Given the description of an element on the screen output the (x, y) to click on. 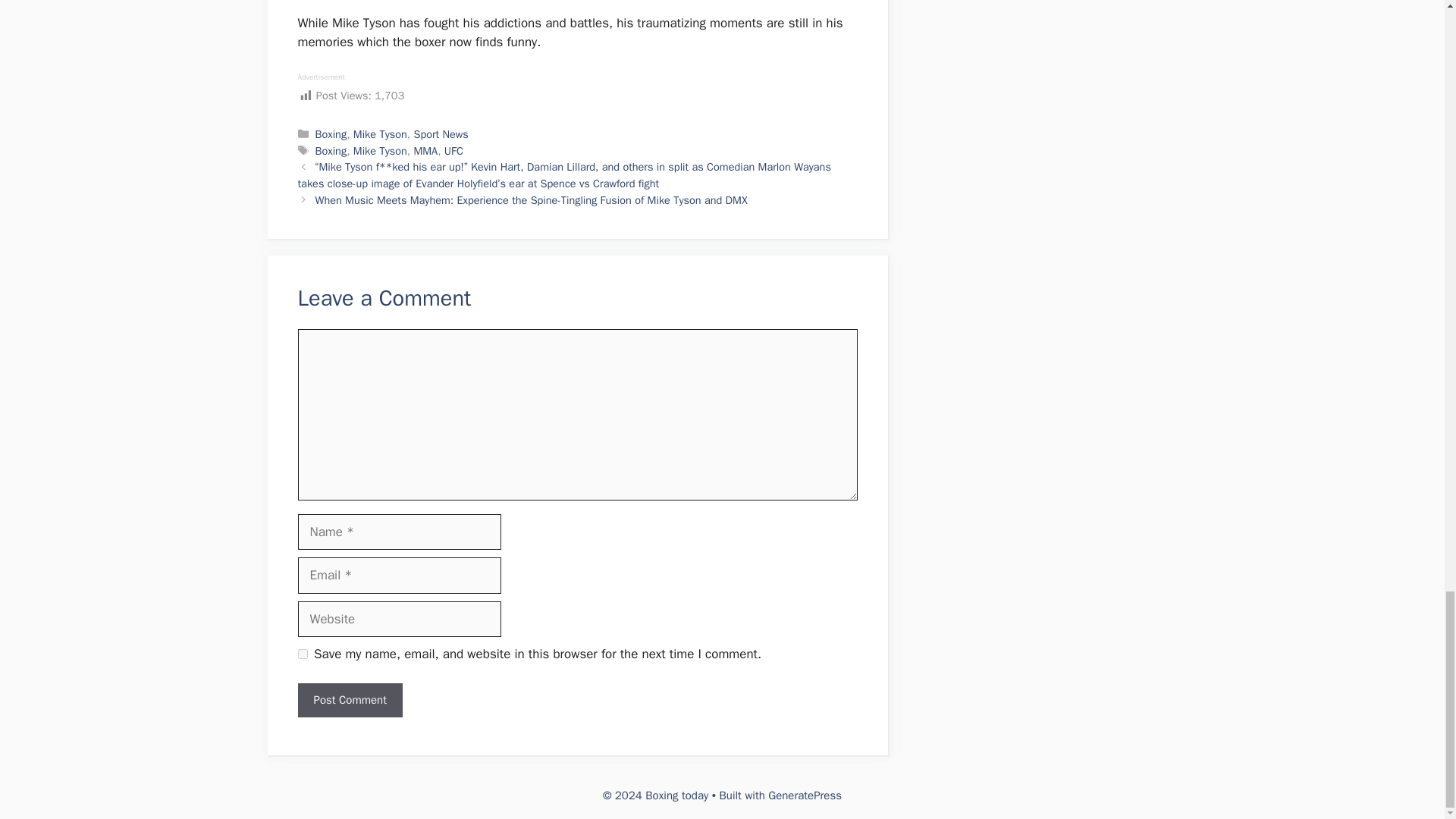
Post Comment (349, 700)
UFC (453, 151)
yes (302, 654)
MMA (425, 151)
Mike Tyson (380, 151)
Mike Tyson (380, 133)
Post Comment (349, 700)
Boxing (331, 151)
Boxing (331, 133)
